Given the description of an element on the screen output the (x, y) to click on. 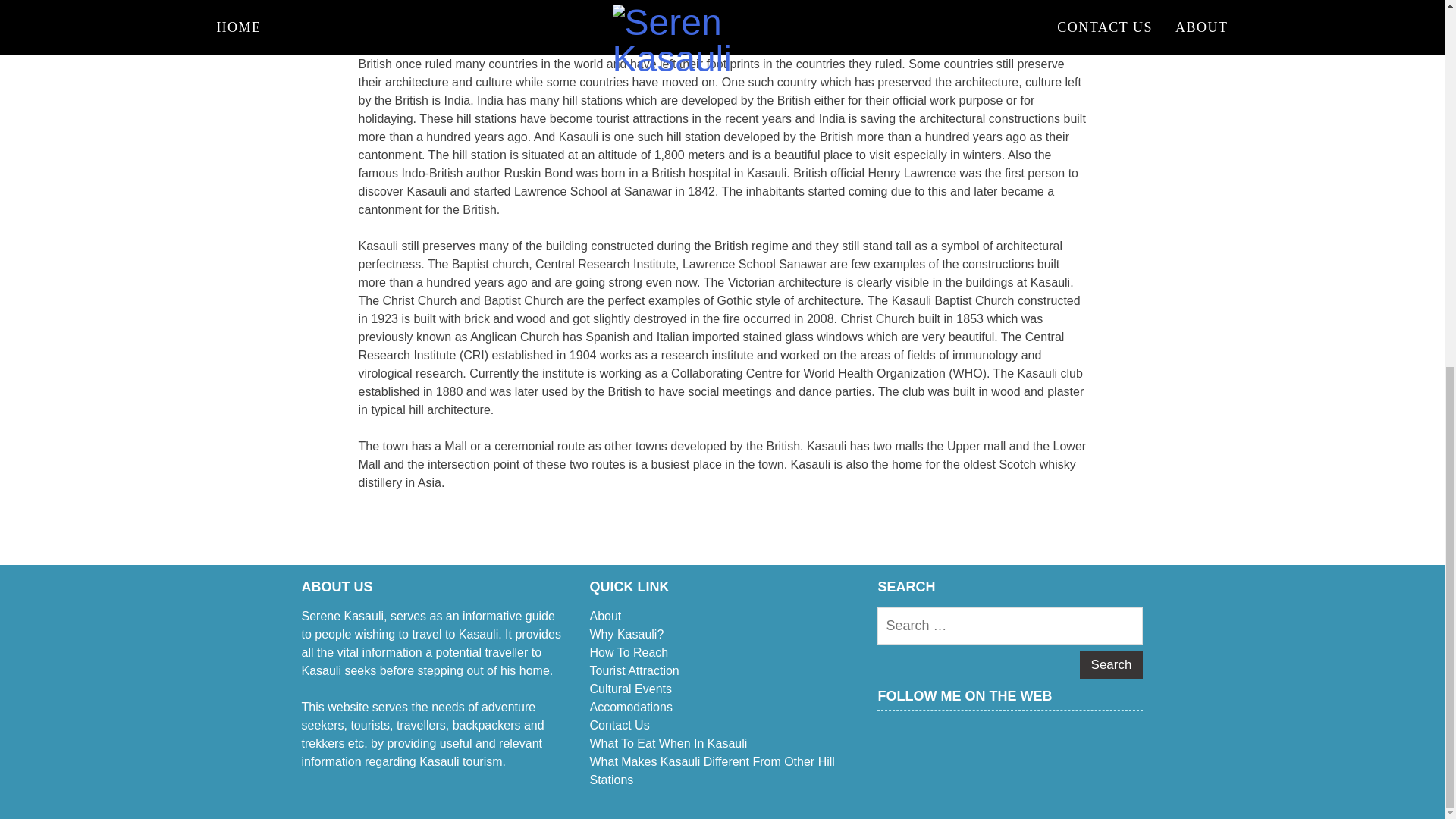
Tourist Attraction (633, 670)
Search (1111, 664)
What To Eat When In Kasauli (667, 743)
Cultural Events (630, 688)
About (605, 615)
How To Reach (628, 652)
Accomodations (630, 707)
Why Kasauli? (626, 634)
Contact Us (619, 725)
Search (1111, 664)
What Makes Kasauli Different From Other Hill Stations (711, 770)
Search (1111, 664)
